Given the description of an element on the screen output the (x, y) to click on. 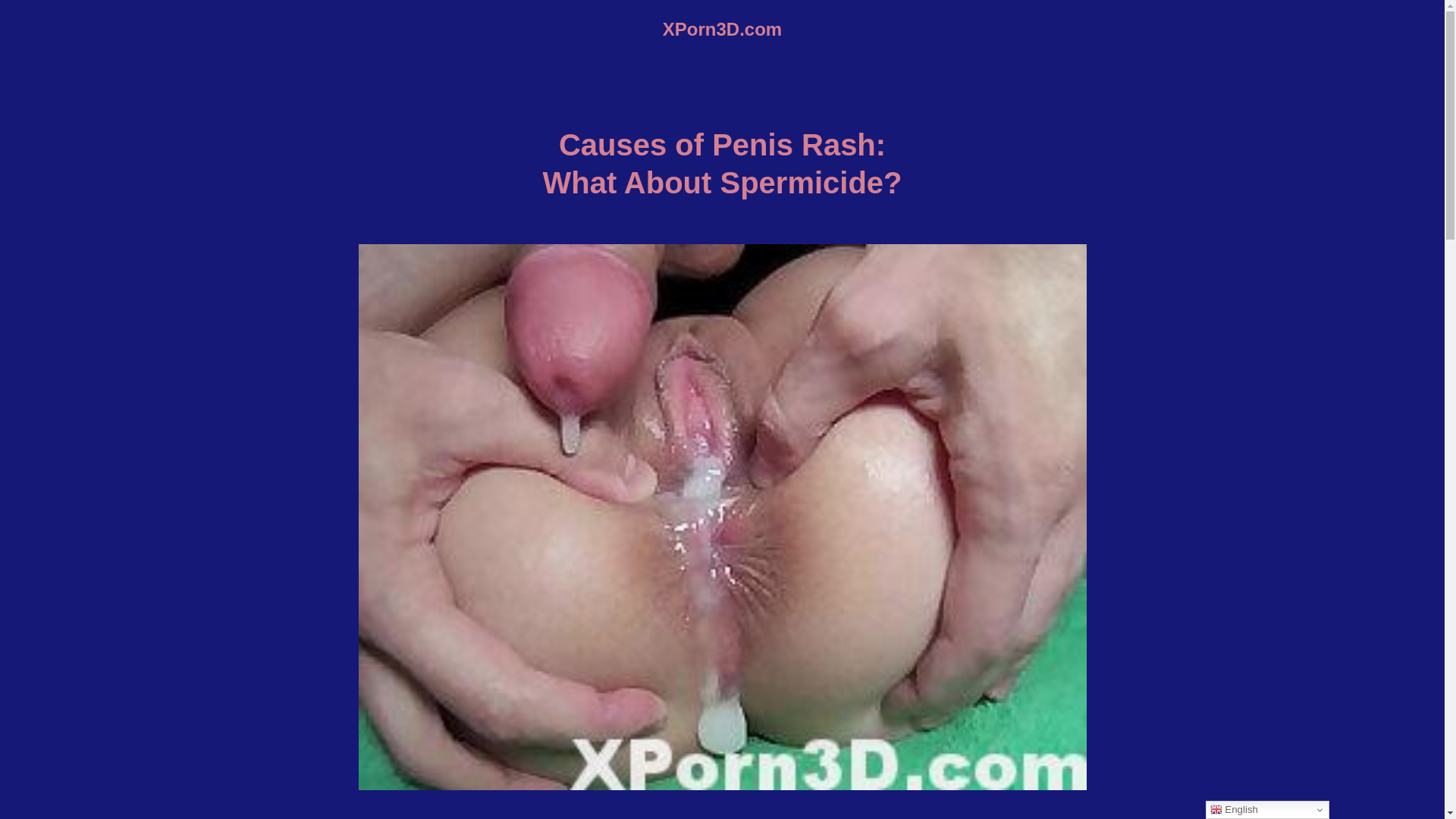
Causes of Penis Rash: What About Spermicide? (722, 163)
English (1267, 809)
XPorn3D.com (721, 28)
